Given the description of an element on the screen output the (x, y) to click on. 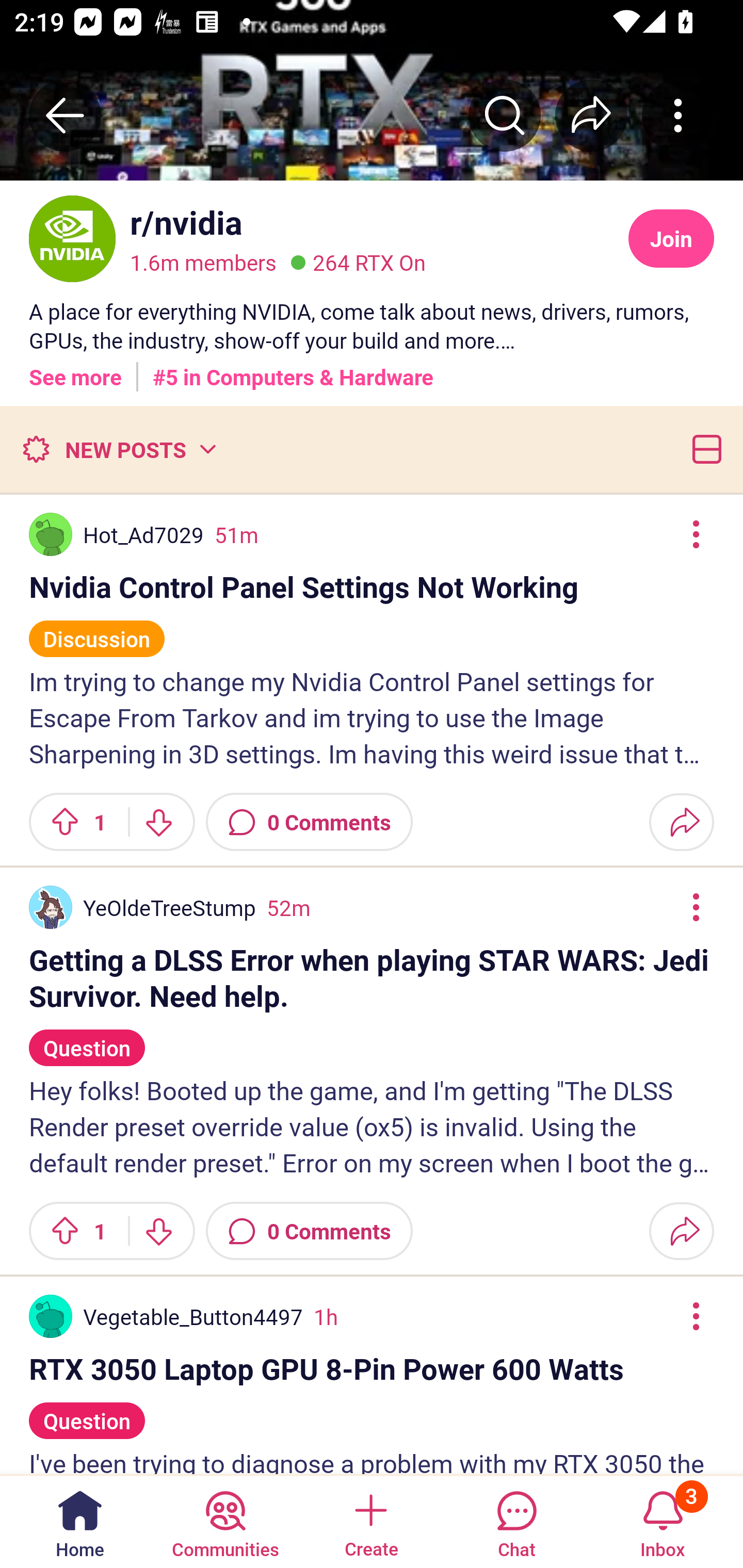
Back (64, 115)
Search r/﻿nvidia (504, 115)
Share r/﻿nvidia (591, 115)
More community actions (677, 115)
New posts NEW POSTS (118, 449)
Card (703, 449)
Discussion (96, 629)
Question (86, 1039)
Question (86, 1411)
Home (80, 1520)
Communities (225, 1520)
Create a post Create (370, 1520)
Chat (516, 1520)
Inbox, has 3 notifications 3 Inbox (662, 1520)
